Given the description of an element on the screen output the (x, y) to click on. 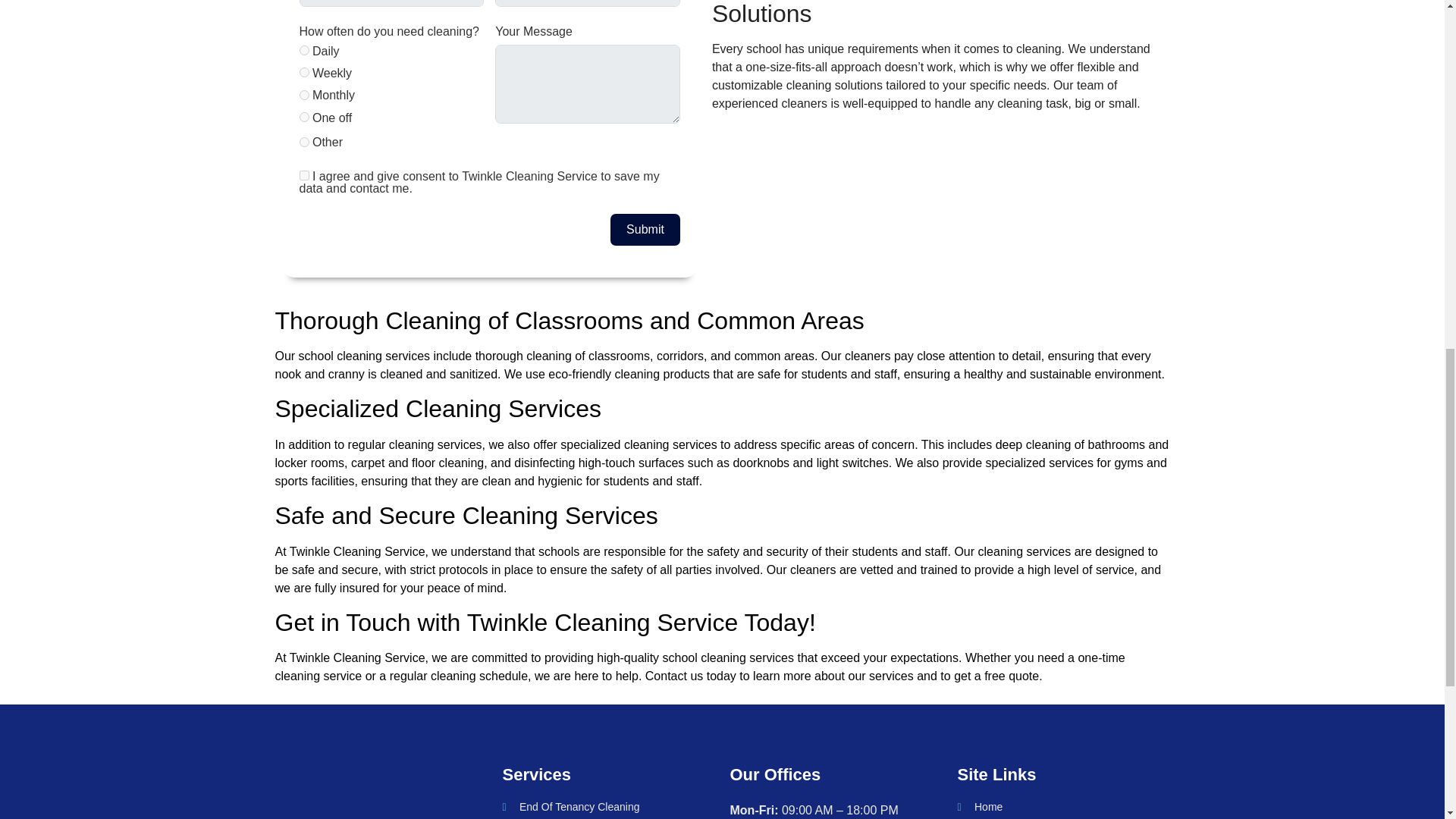
Monthly (303, 94)
One off (303, 117)
Other (303, 142)
Daily (303, 50)
Weekly (303, 71)
